Given the description of an element on the screen output the (x, y) to click on. 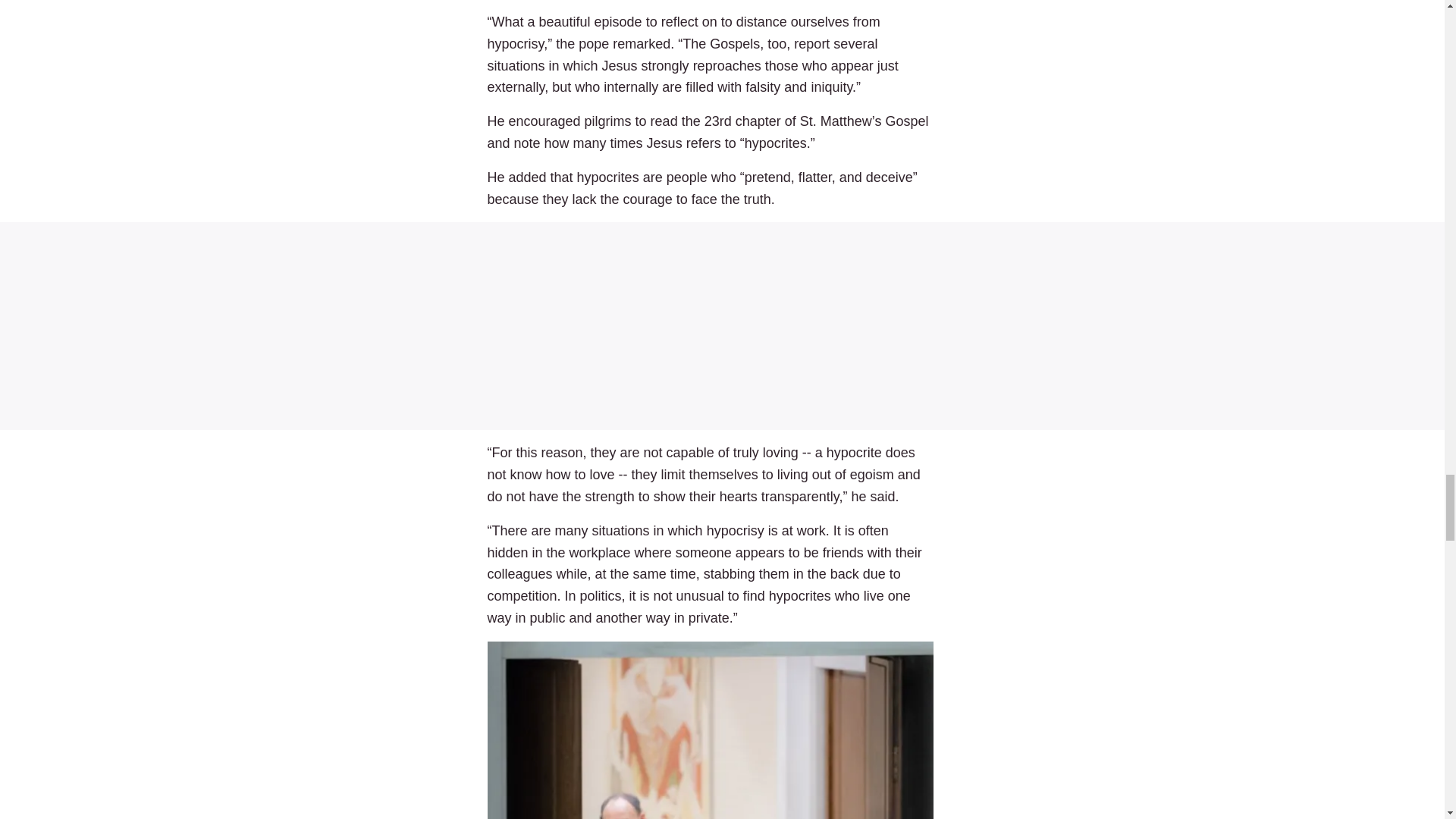
3rd party ad content (721, 325)
